Given the description of an element on the screen output the (x, y) to click on. 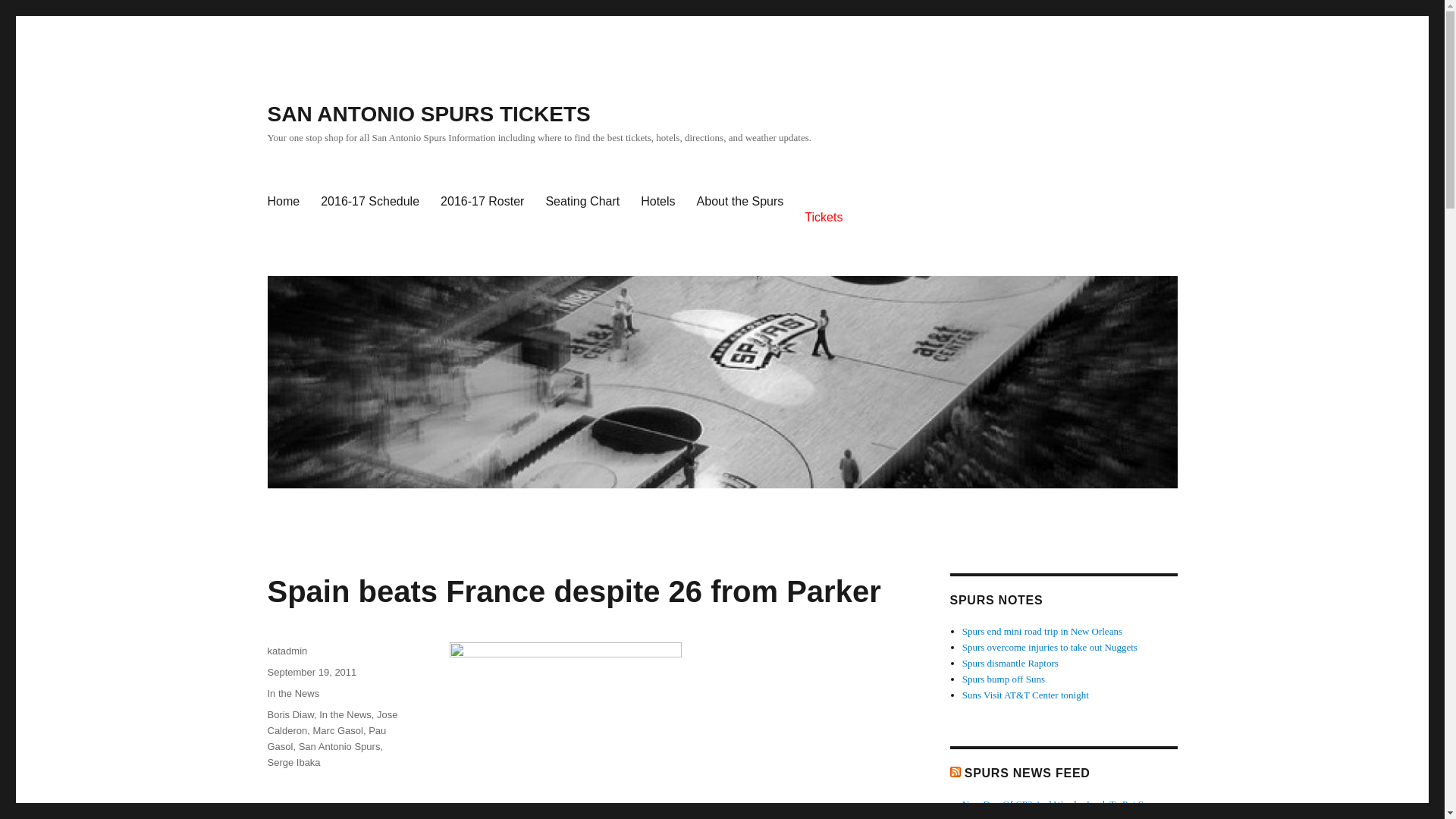
Tickets (823, 217)
Spurs dismantle Raptors (1010, 663)
About the Spurs (739, 201)
Spurs overcome injuries to take out Nuggets (1049, 646)
Pau Gasol (325, 738)
New Duo Of CP3 And Wemby Look To Put Spurs Back On Map (1061, 808)
Serge Ibaka (293, 762)
San Antonio Spurs (339, 746)
2016-17 Schedule (369, 201)
Spurs end mini road trip in New Orleans (1042, 631)
